Given the description of an element on the screen output the (x, y) to click on. 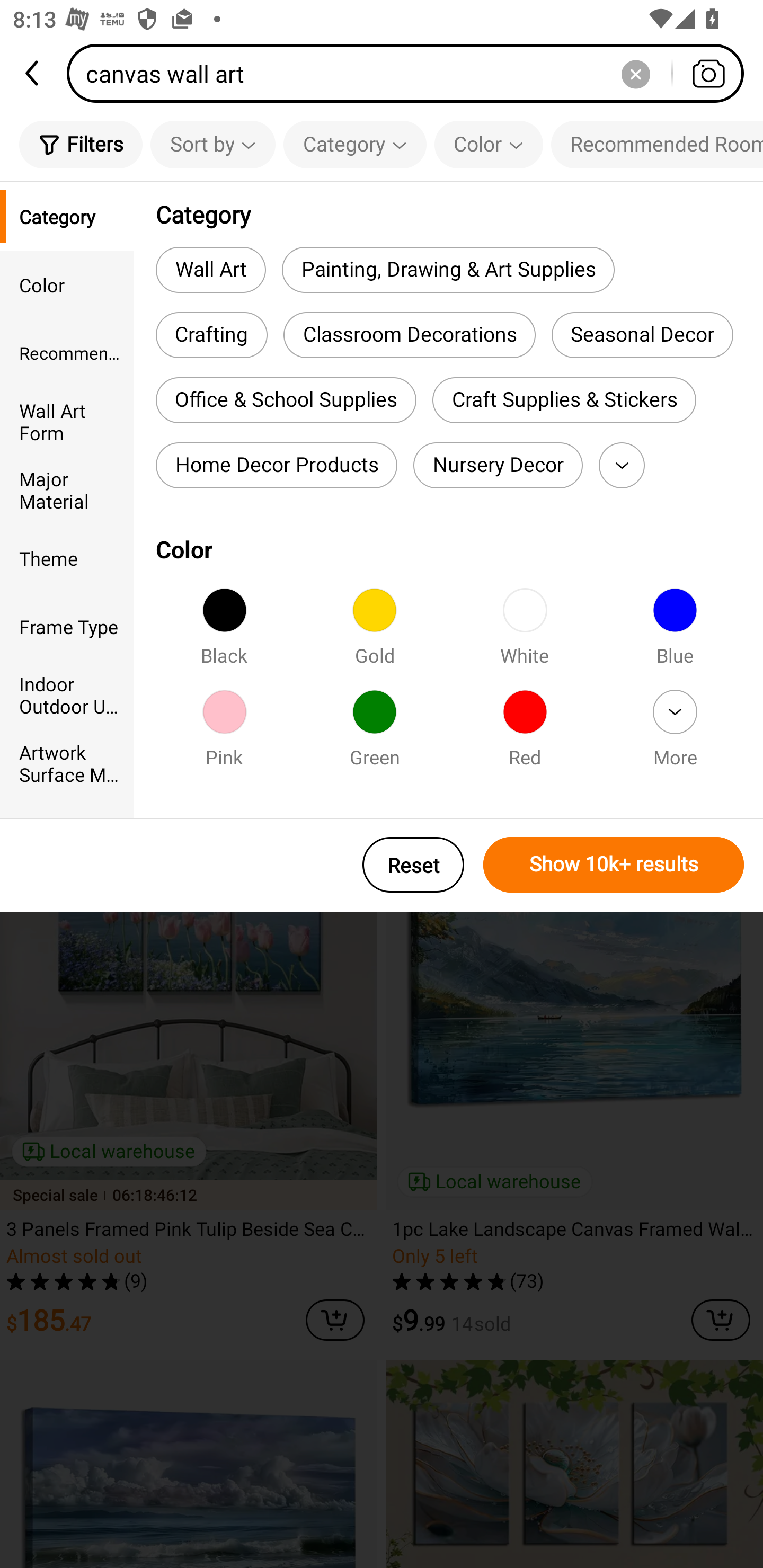
back (33, 72)
canvas wall art (411, 73)
Delete search history (635, 73)
Search by photo (708, 73)
Filters (80, 143)
Sort by (212, 143)
Category (354, 143)
Color (488, 143)
Recommended Room (656, 143)
Category (66, 215)
Wall Art (210, 269)
Painting, Drawing & Art Supplies (447, 269)
Color (66, 284)
Crafting (211, 334)
Classroom Decorations (409, 334)
Seasonal Decor (642, 334)
Recommended Room (66, 352)
Office & School Supplies (285, 400)
Craft Supplies & Stickers (563, 400)
Wall Art Form (66, 421)
Home Decor Products (276, 464)
Nursery Decor (497, 464)
More (621, 464)
Major Material (66, 489)
Theme (66, 557)
Frame Type (66, 626)
Indoor Outdoor Usage (66, 694)
More (674, 734)
Artwork Surface Material (66, 762)
Reset (412, 864)
Show 10k+ results (612, 864)
